Given the description of an element on the screen output the (x, y) to click on. 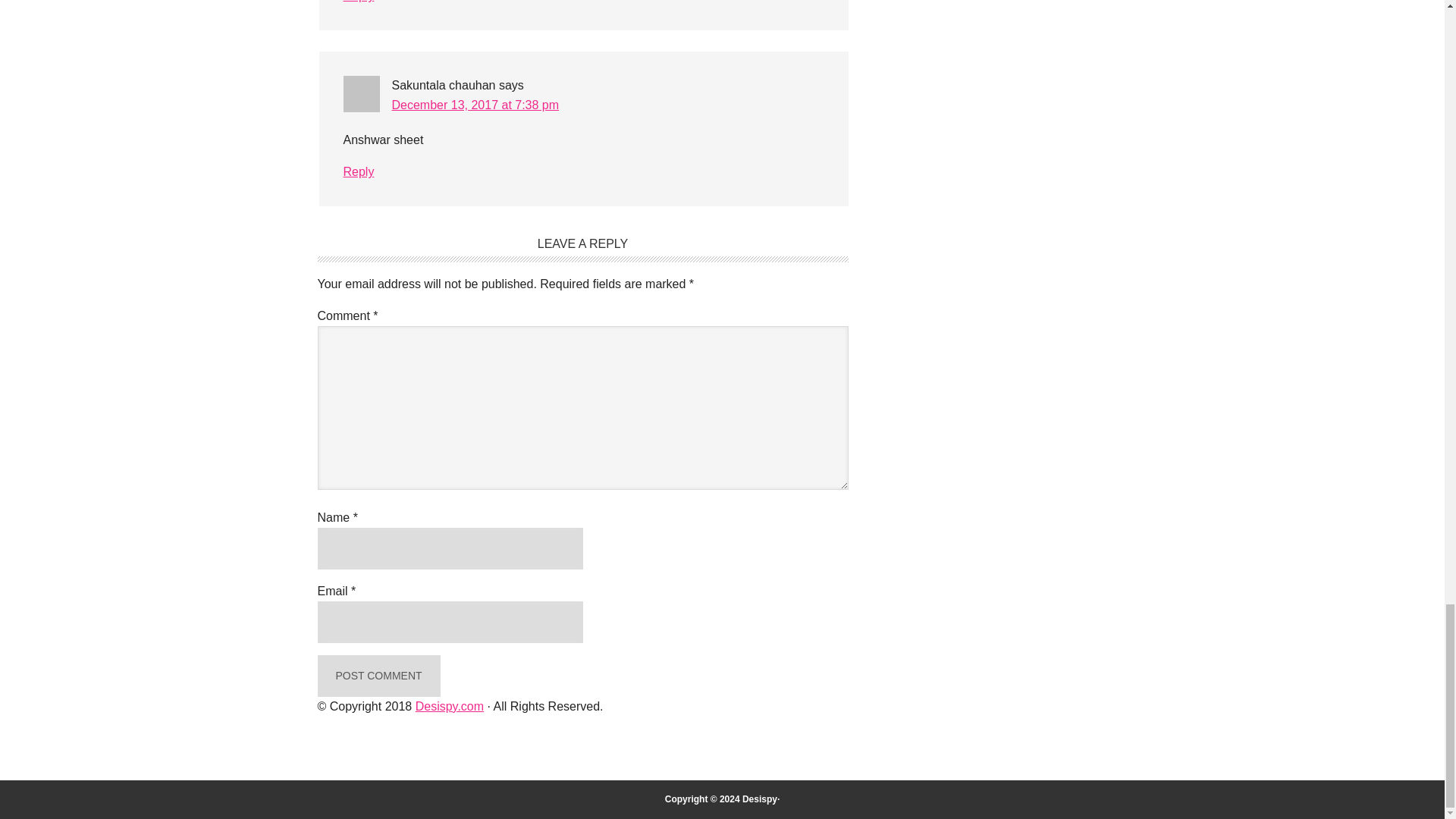
Post Comment (378, 675)
Reply (358, 1)
Reply (358, 171)
December 13, 2017 at 7:38 pm (475, 104)
Post Comment (378, 675)
Desispy.com (448, 706)
